Given the description of an element on the screen output the (x, y) to click on. 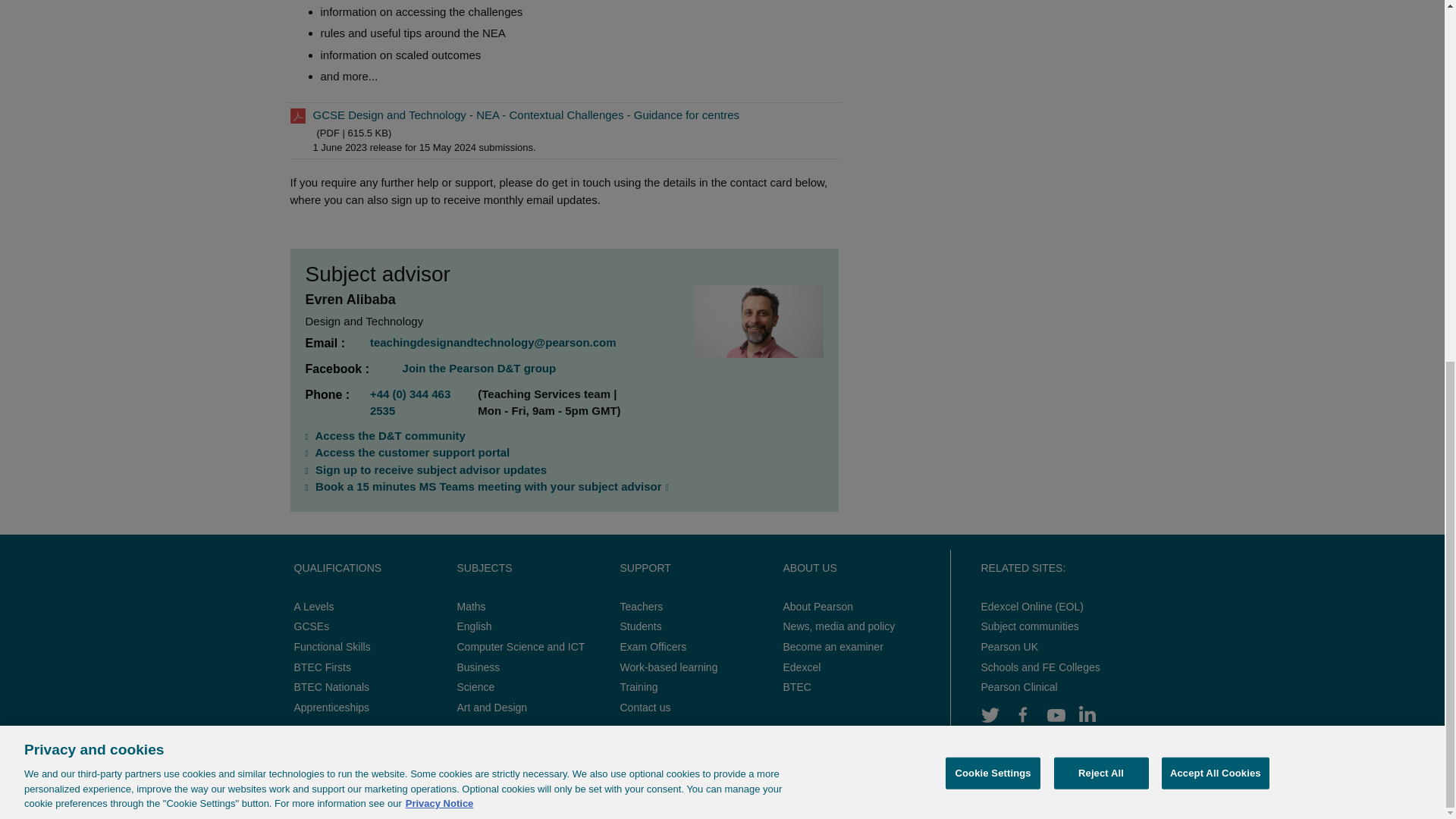
Pearson Plc YouTube channel (1062, 721)
Pearson Plc Facebook profile (1029, 721)
Pearson LinkedIn profile (1094, 721)
Evren Alibaba - Design and Technology (759, 321)
Pearson UK Twitter profile (997, 721)
